Given the description of an element on the screen output the (x, y) to click on. 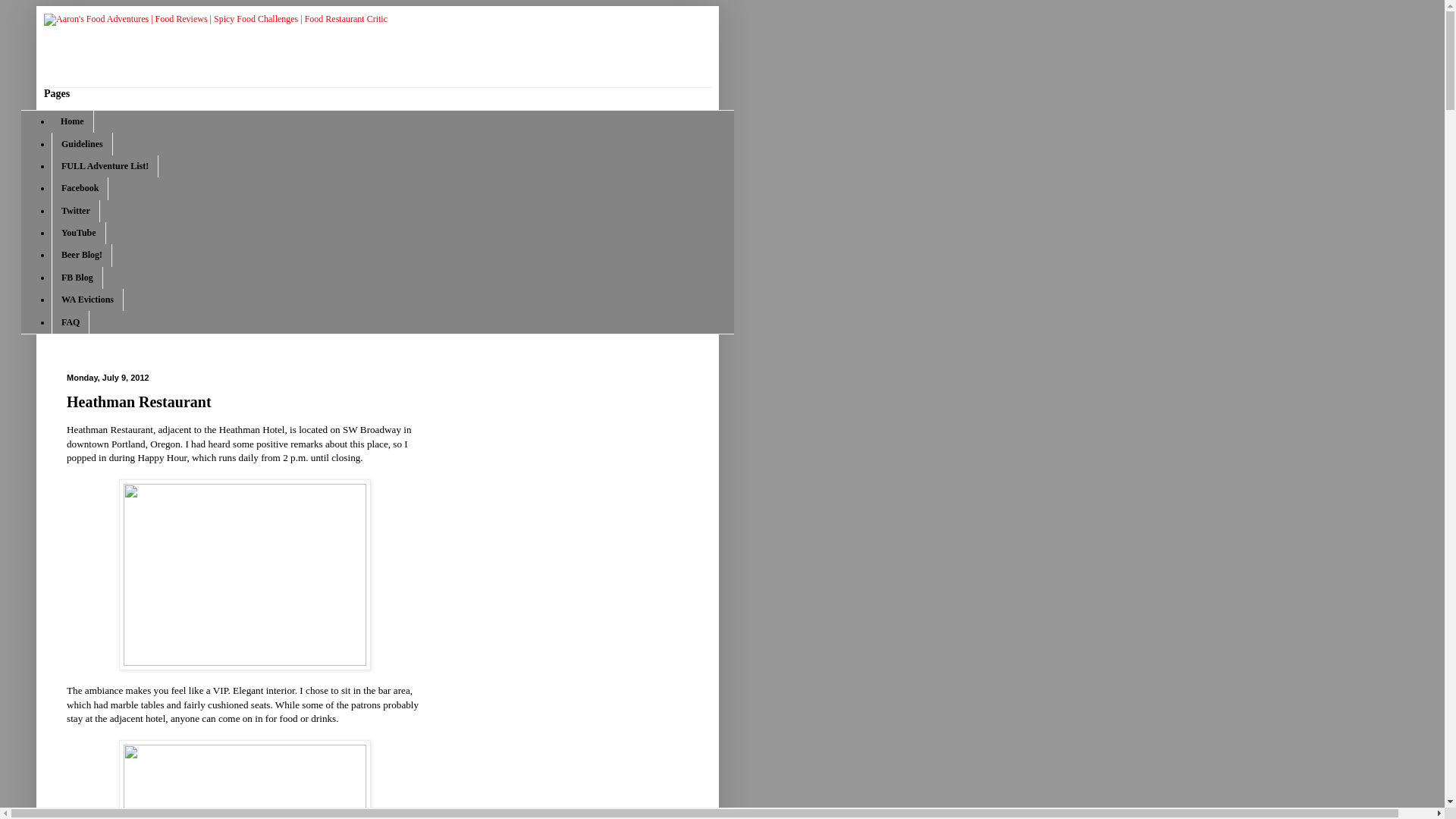
FAQ (69, 321)
Guidelines (81, 143)
FULL Adventure List! (104, 166)
WA Evictions (86, 300)
Facebook (78, 188)
YouTube (78, 232)
Beer Blog! (81, 255)
Twitter (75, 210)
FB Blog (76, 277)
Home (72, 121)
